Given the description of an element on the screen output the (x, y) to click on. 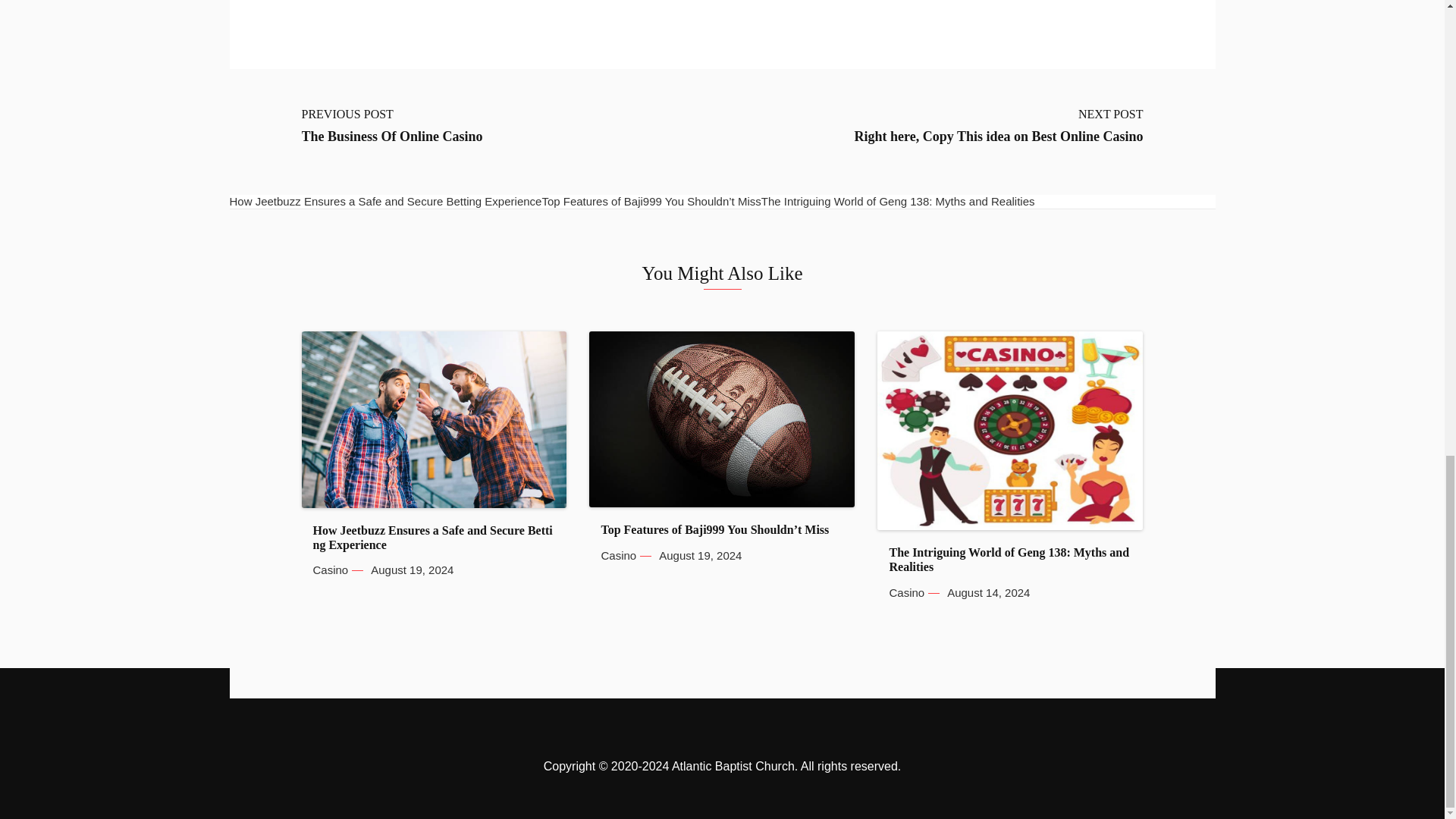
August 19, 2024 (411, 570)
The Business Of Online Casino (392, 136)
Casino (330, 570)
How Jeetbuzz Ensures a Safe and Secure Betting Experience (433, 537)
Right here, Copy This idea on Best Online Casino (998, 136)
